Given the description of an element on the screen output the (x, y) to click on. 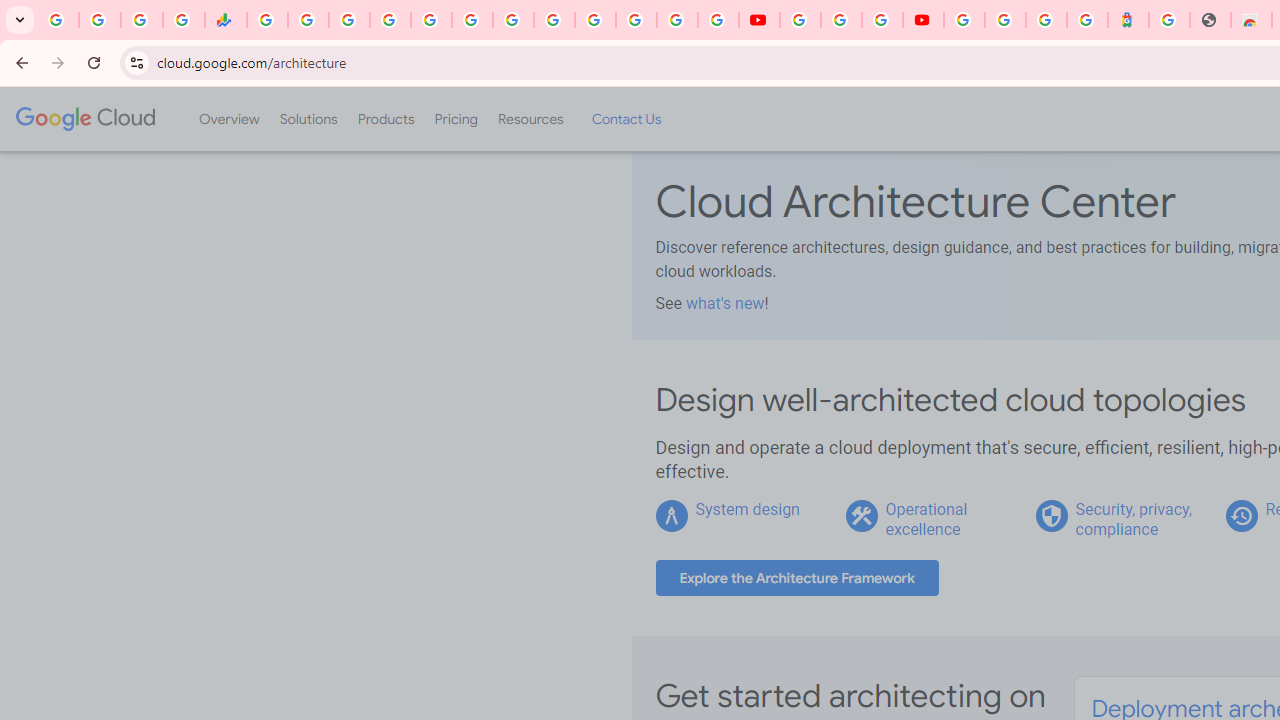
Explore the Architecture Framework (797, 578)
Google Cloud (84, 118)
Products (385, 119)
what's new (724, 303)
Privacy Checkup (717, 20)
Google Workspace Admin Community (58, 20)
Contact Us (626, 119)
